Given the description of an element on the screen output the (x, y) to click on. 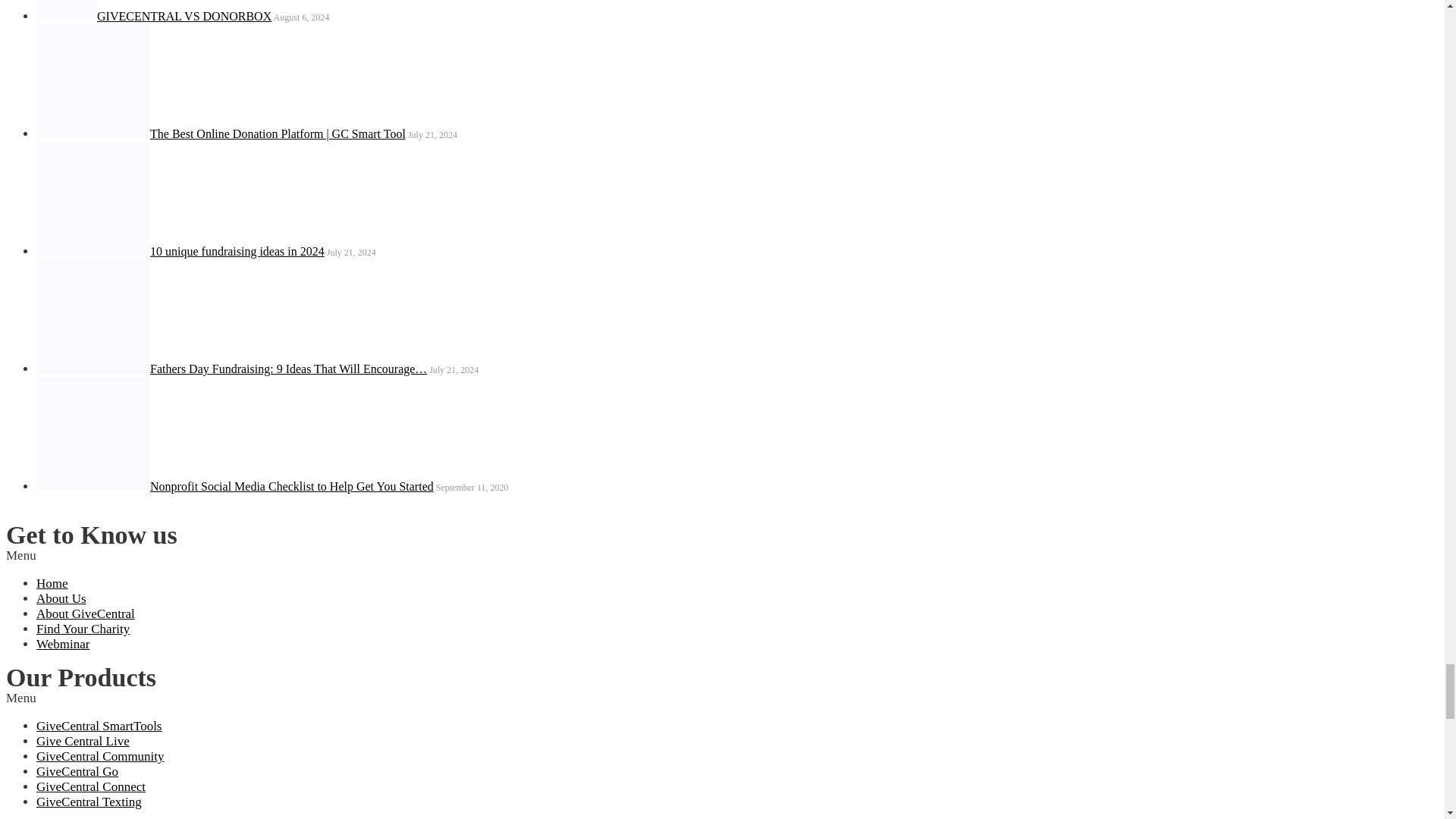
GIVECENTRAL VS DONORBOX (66, 10)
10 unique fundraising ideas in 2024 (92, 198)
Nonprofit Social Media Checklist to Help Get You Started (92, 433)
